Given the description of an element on the screen output the (x, y) to click on. 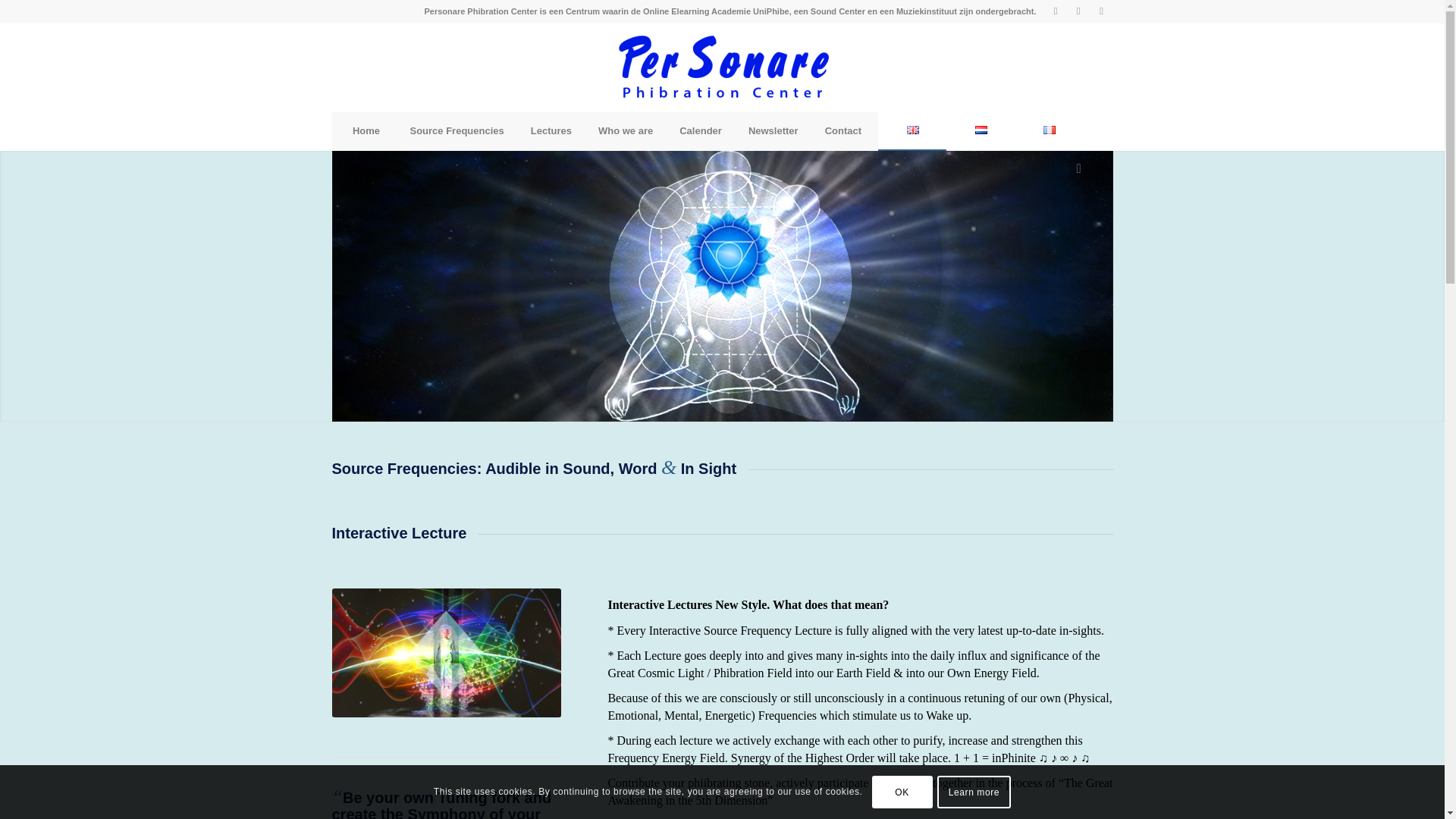
Source Frequencies (457, 130)
Facebook (1056, 11)
Lectures (550, 130)
Newsletter (772, 130)
Who we are (624, 130)
X (1078, 11)
Contact (842, 130)
Calender (700, 130)
Home (365, 130)
Instagram (1101, 11)
